Given the description of an element on the screen output the (x, y) to click on. 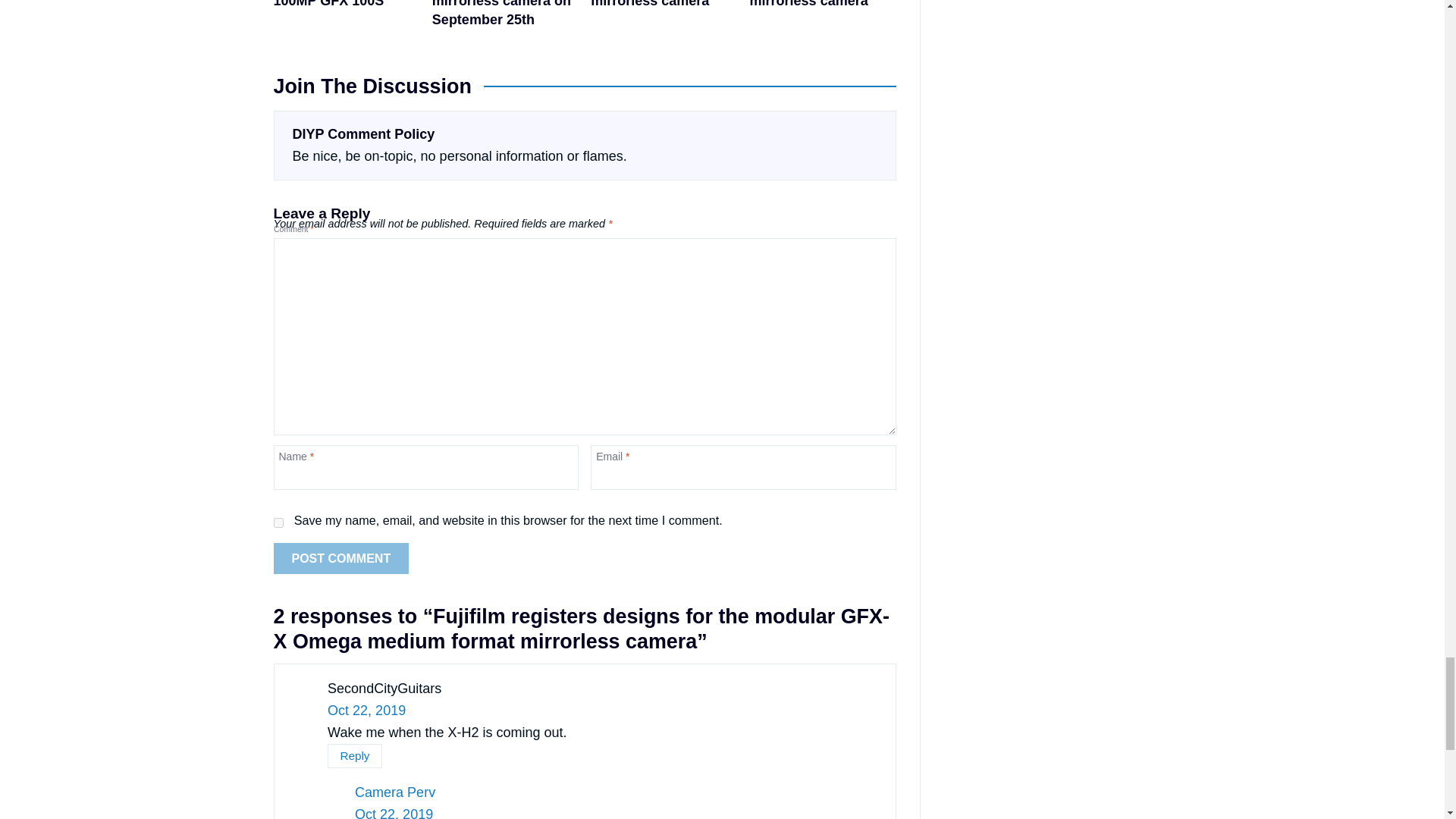
yes (277, 522)
Post Comment (341, 558)
